Given the description of an element on the screen output the (x, y) to click on. 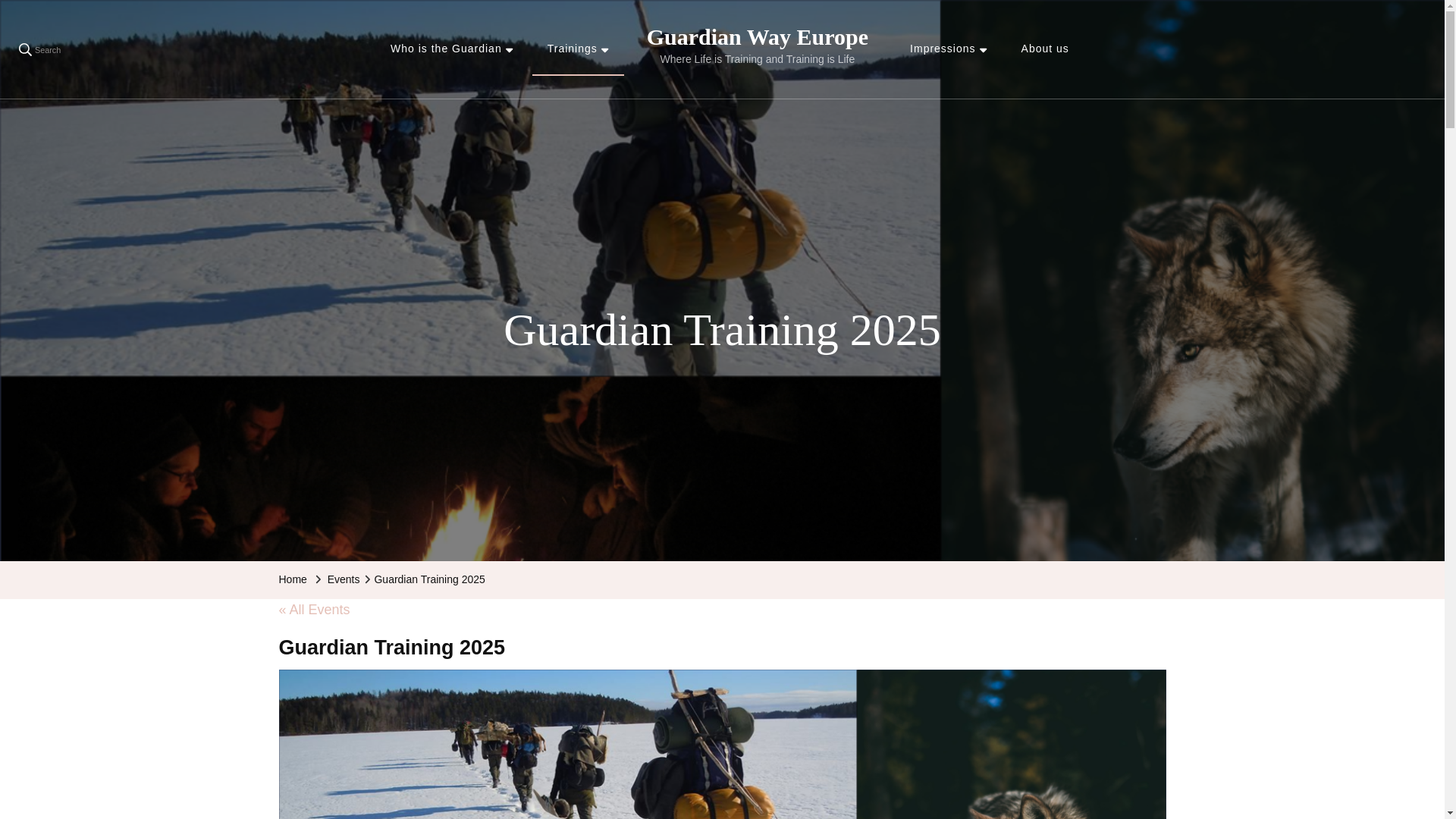
Guardian Way Europe (756, 36)
Who is the Guardian (451, 49)
About us (1045, 49)
Events (343, 579)
Trainings (578, 49)
Search (39, 48)
Guardian Training 2025 (429, 579)
Home (293, 579)
Impressions (948, 49)
